Given the description of an element on the screen output the (x, y) to click on. 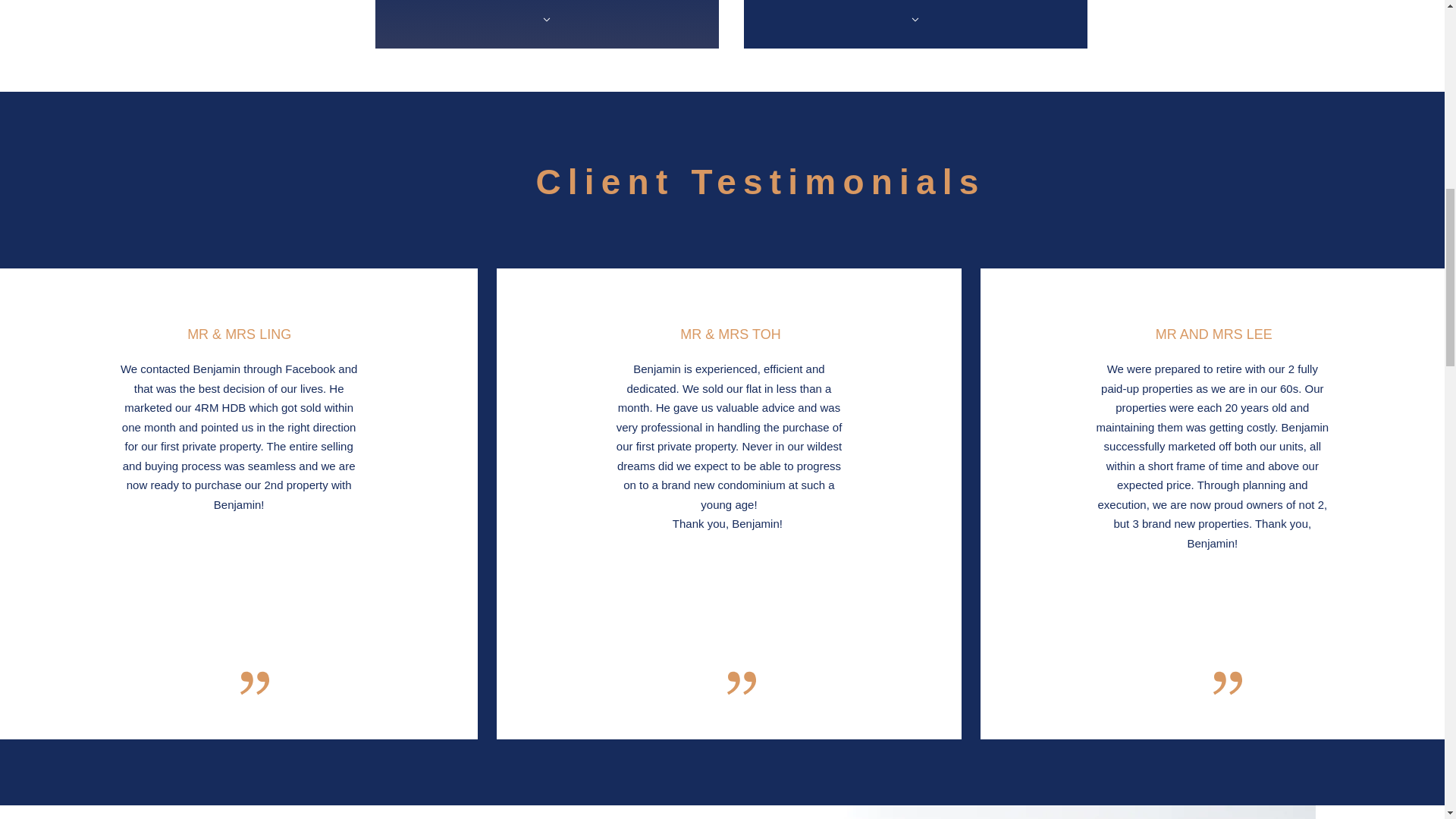
I want to own a private property (545, 24)
I want to sell my property (914, 24)
